Given the description of an element on the screen output the (x, y) to click on. 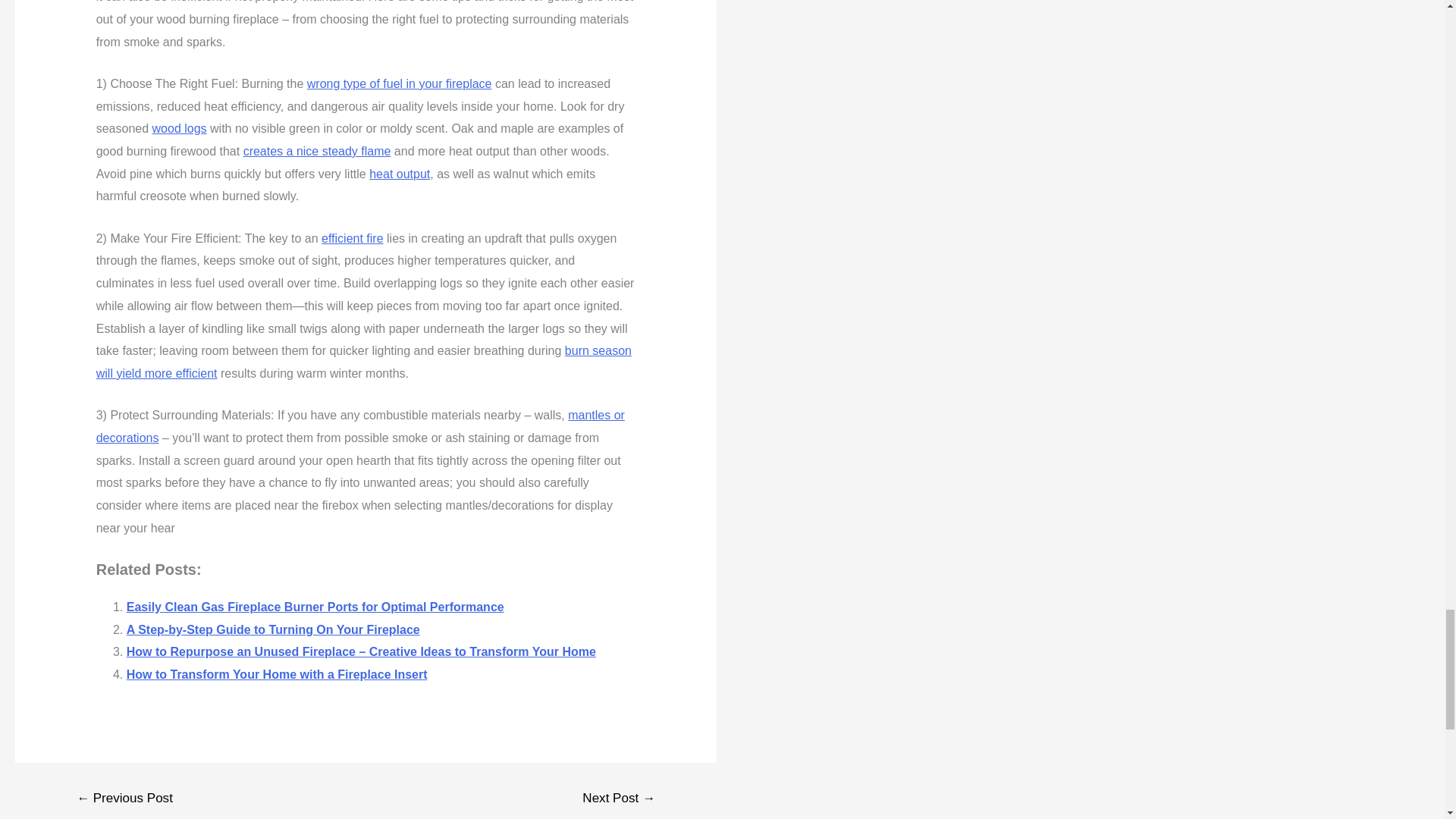
efficient fire (352, 237)
How to Transform Your Home with a Fireplace Insert (277, 674)
wrong type of fuel in your fireplace (399, 83)
heat output (399, 173)
burn season will yield more efficient (363, 361)
mantles or decorations (360, 426)
wood logs (179, 128)
creates a nice steady flame (317, 151)
A Step-by-Step Guide to Turning On Your Fireplace (273, 629)
